Given the description of an element on the screen output the (x, y) to click on. 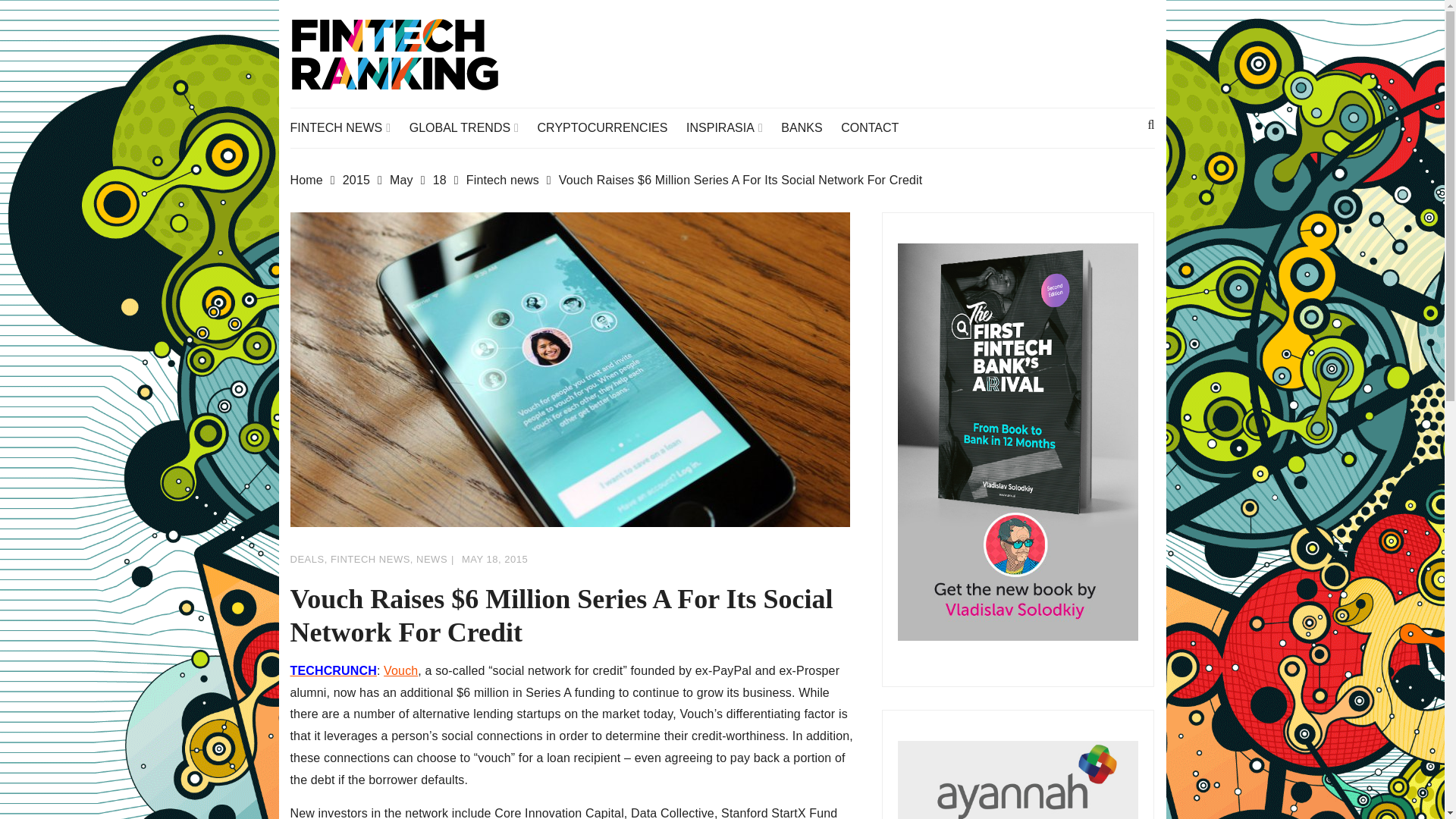
BANKS (808, 128)
GLOBAL TRENDS (471, 128)
INSPIRASIA (731, 128)
FINTECH NEWS (347, 128)
CONTACT (877, 128)
CRYPTOCURRENCIES (609, 128)
